Given the description of an element on the screen output the (x, y) to click on. 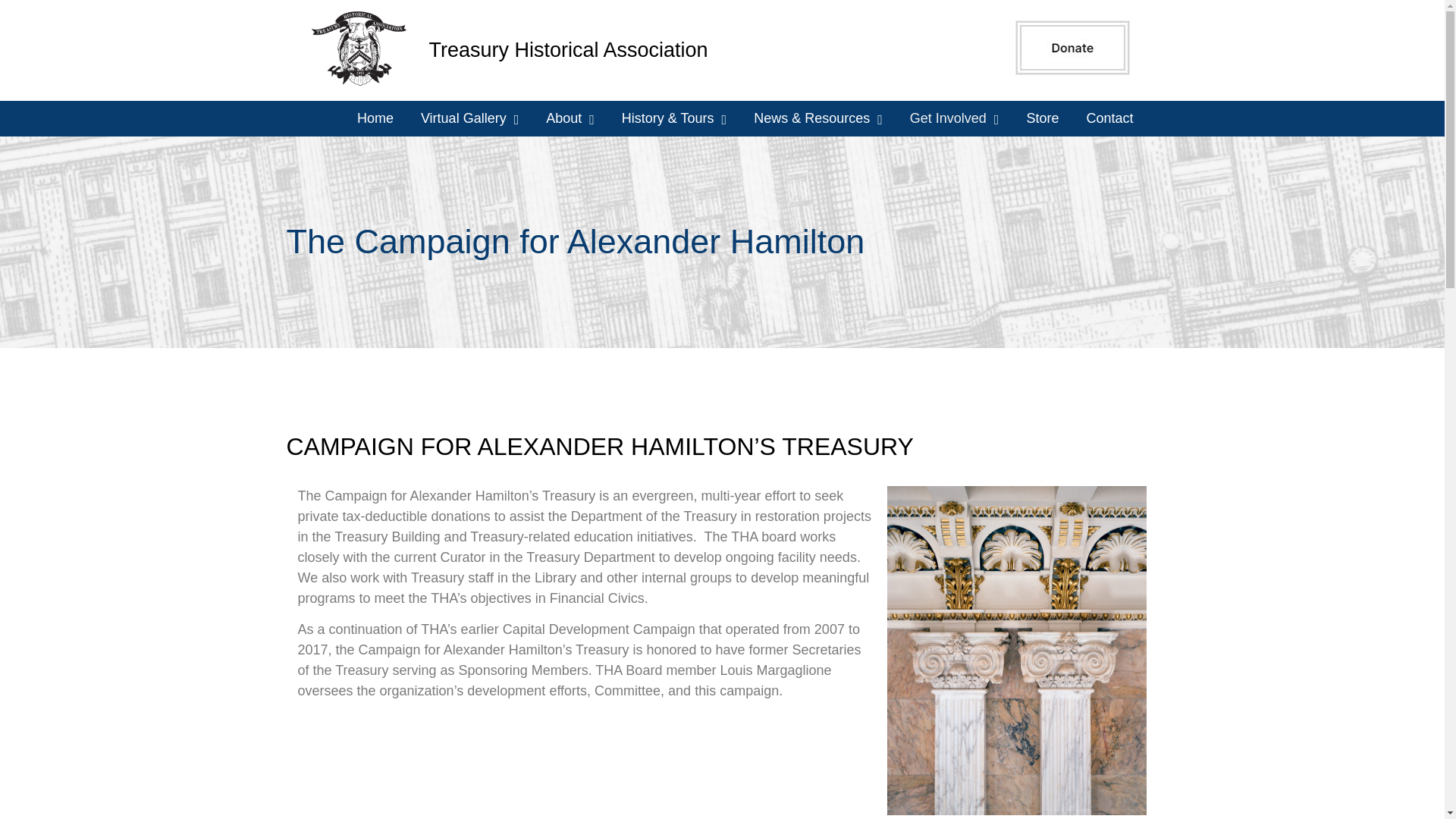
About (570, 118)
Store (1041, 118)
PayPal - The safer, easier way to pay online! (1071, 47)
Virtual Gallery (469, 118)
Contact (1109, 118)
Get Involved (954, 118)
Home (375, 118)
